Given the description of an element on the screen output the (x, y) to click on. 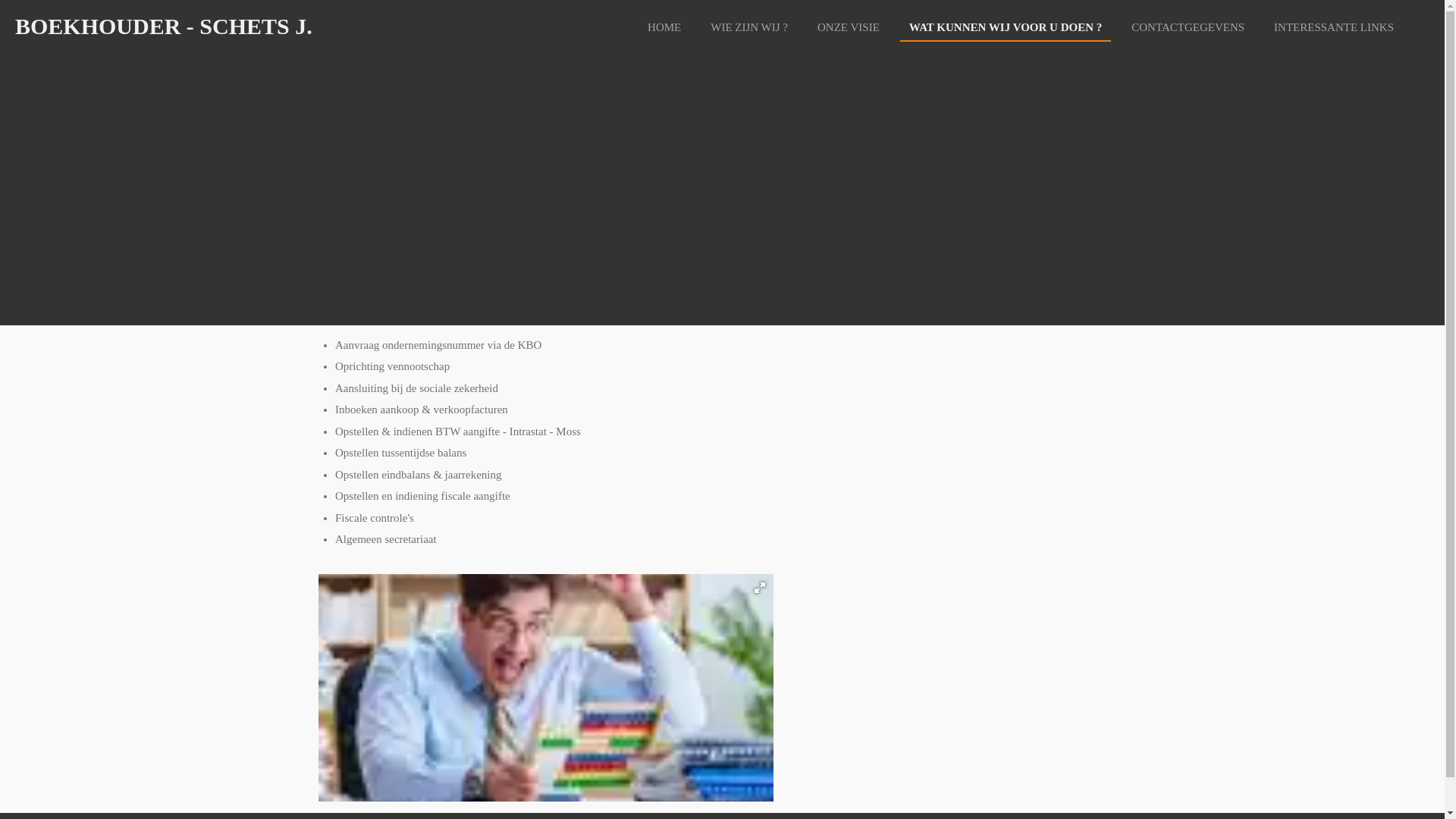
ONZE VISIE Element type: text (848, 27)
HOME Element type: text (664, 27)
BOEKHOUDER - SCHETS J. Element type: text (163, 25)
CONTACTGEGEVENS Element type: text (1187, 27)
INTERESSANTE LINKS Element type: text (1333, 27)
WIE ZIJN WIJ ? Element type: text (749, 27)
WAT KUNNEN WIJ VOOR U DOEN ? Element type: text (1005, 27)
